Given the description of an element on the screen output the (x, y) to click on. 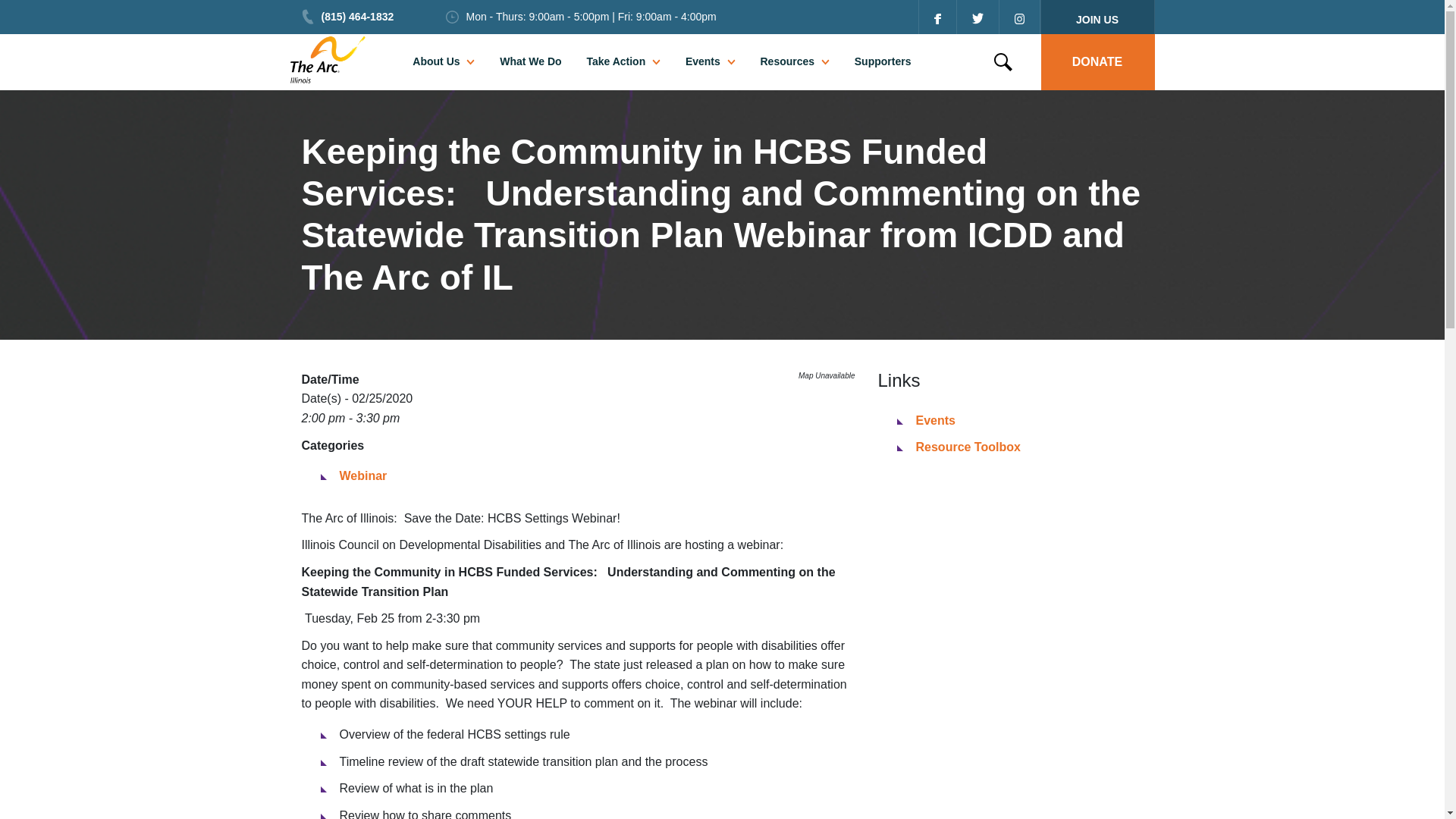
Take Action (615, 61)
Resources (786, 61)
What We Do (529, 61)
JOIN US (1097, 17)
Events (702, 61)
About Us (436, 61)
